Given the description of an element on the screen output the (x, y) to click on. 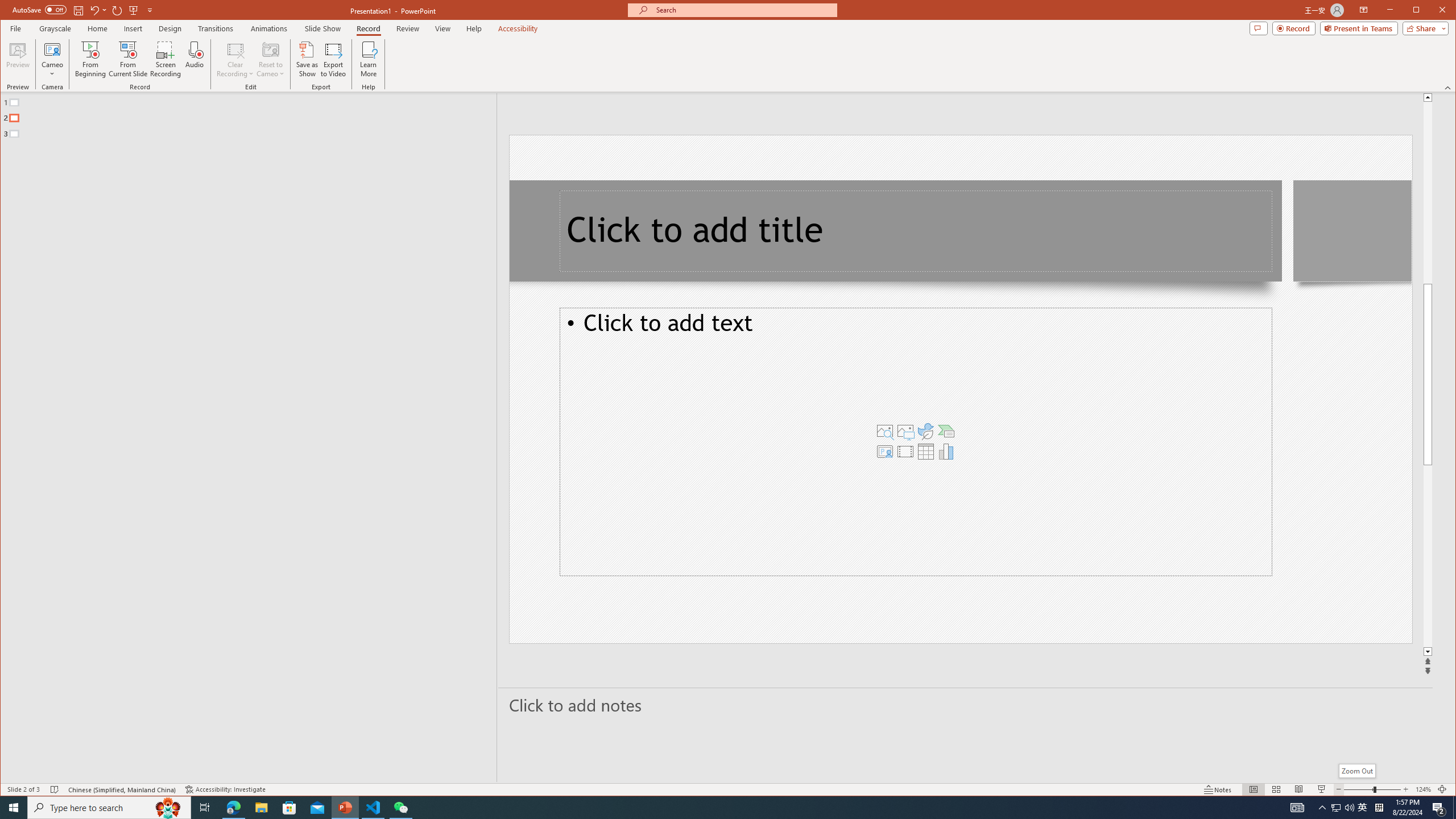
Insert an Icon (925, 430)
Action Center, 2 new notifications (1439, 807)
Stock Images (884, 430)
Zoom 124% (1422, 789)
